Given the description of an element on the screen output the (x, y) to click on. 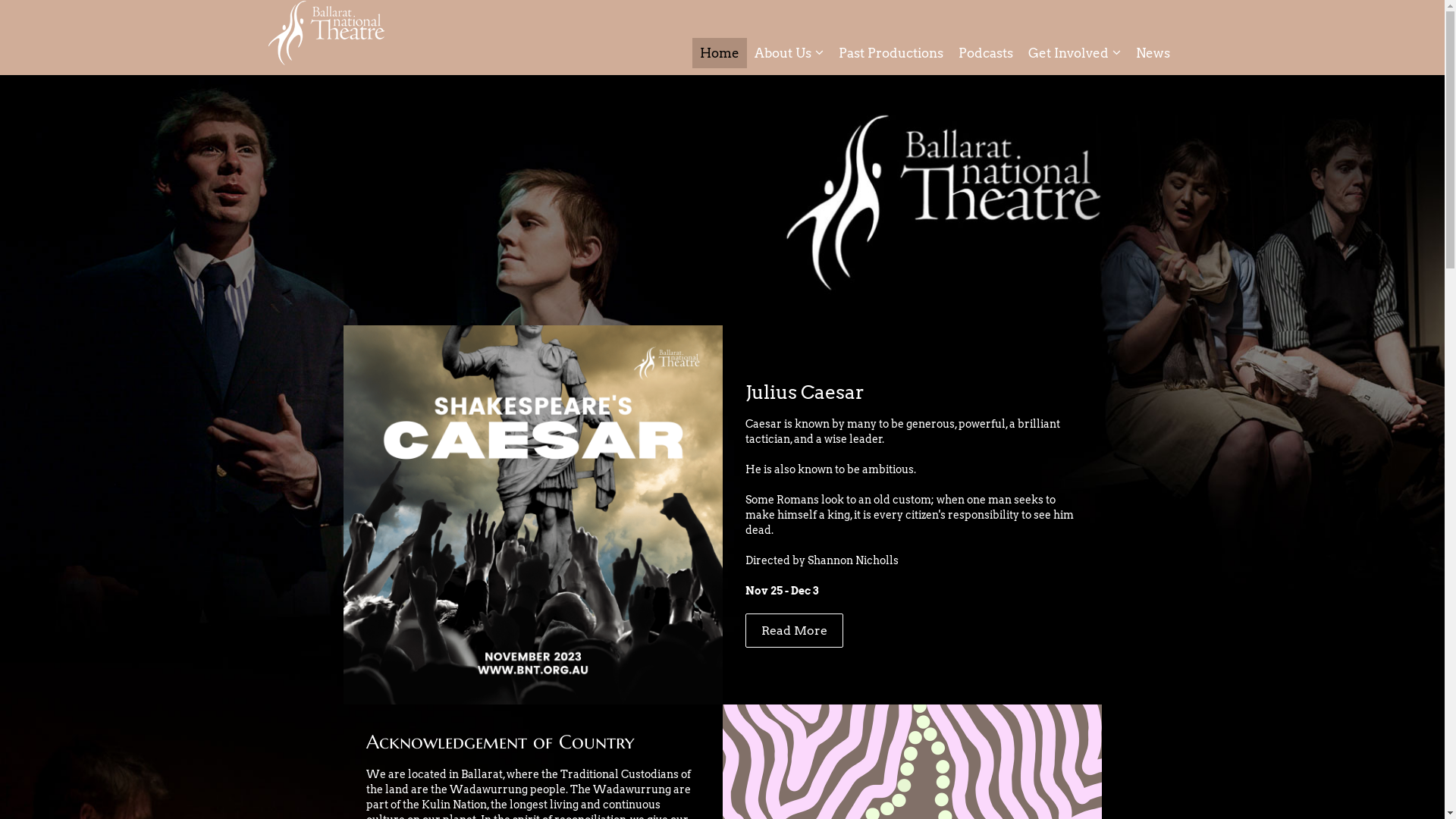
Julius Caesar Element type: text (803, 391)
Read More Element type: text (793, 629)
Home Element type: text (718, 52)
Podcasts Element type: text (985, 52)
Past Productions Element type: text (890, 52)
News Element type: text (1152, 52)
